Given the description of an element on the screen output the (x, y) to click on. 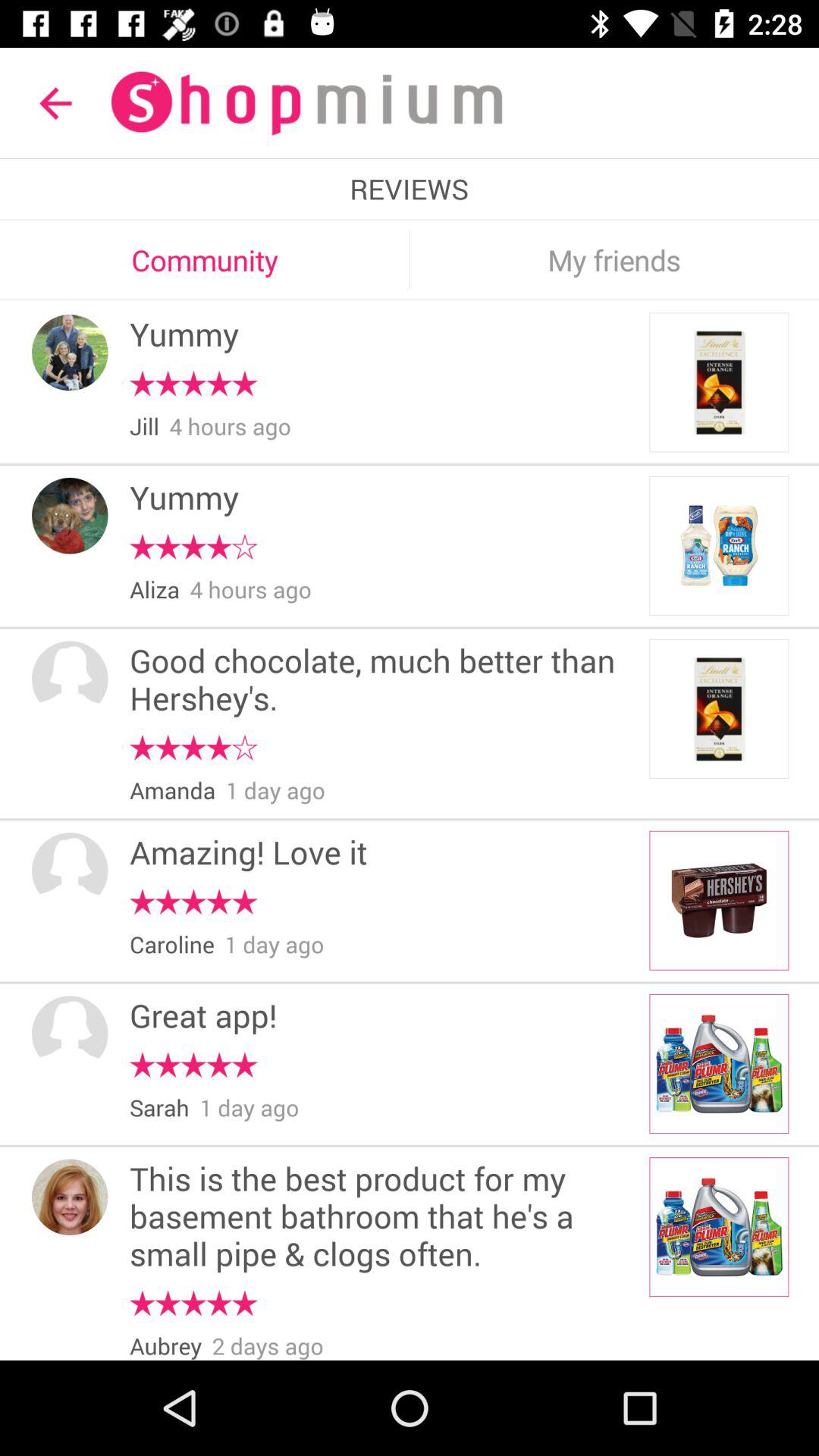
turn off the item to the right of the this is the (718, 1226)
